Given the description of an element on the screen output the (x, y) to click on. 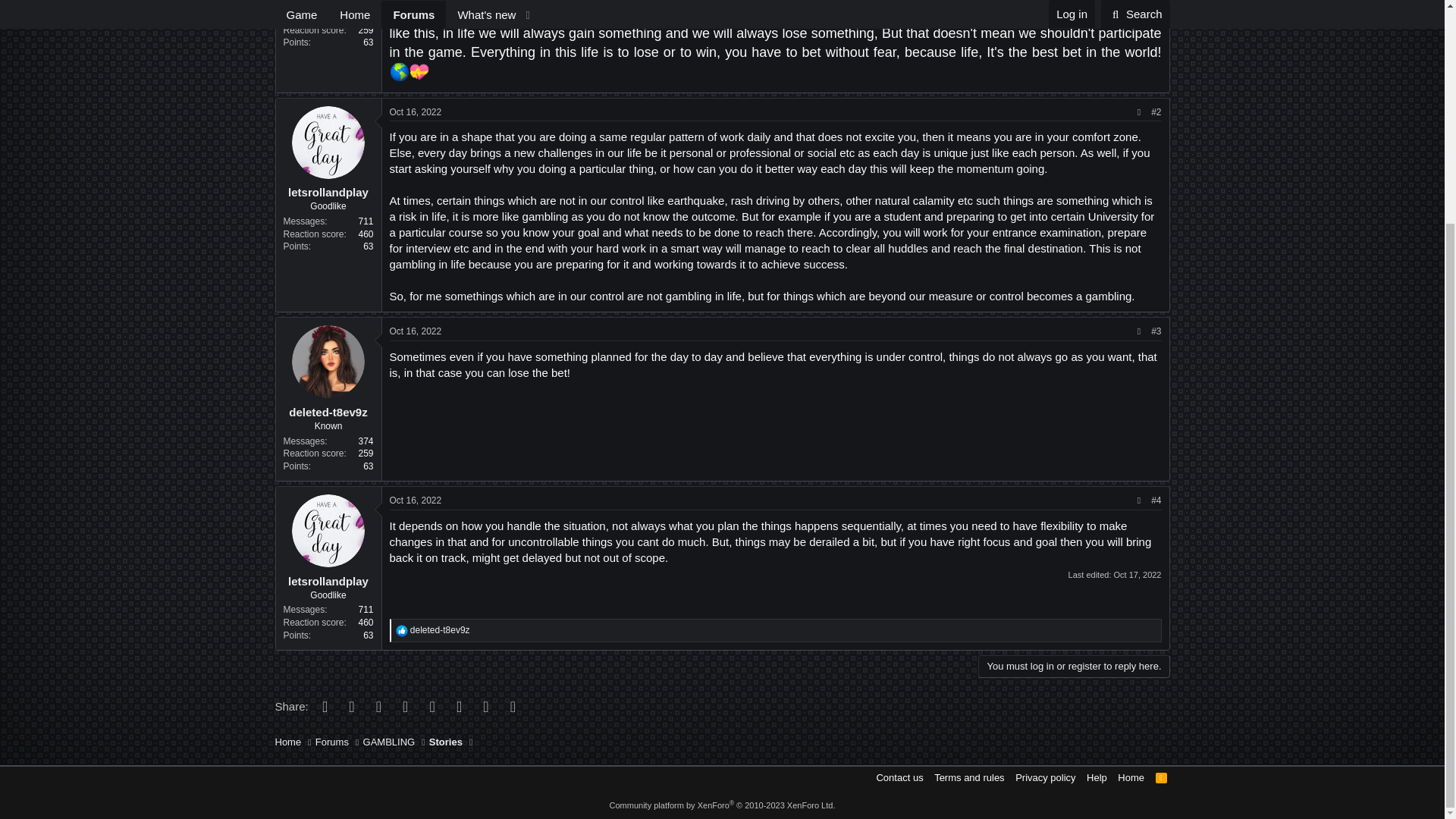
Like (401, 630)
Oct 16, 2022 at 7:19 AM (416, 112)
letsrollandplay (328, 192)
Oct 16, 2022 (416, 112)
Oct 16, 2022 at 7:23 PM (416, 500)
deleted-t8ev9z (327, 411)
Oct 16, 2022 at 6:17 PM (416, 330)
RSS (1161, 776)
Oct 17, 2022 at 6:23 AM (1136, 574)
